Given the description of an element on the screen output the (x, y) to click on. 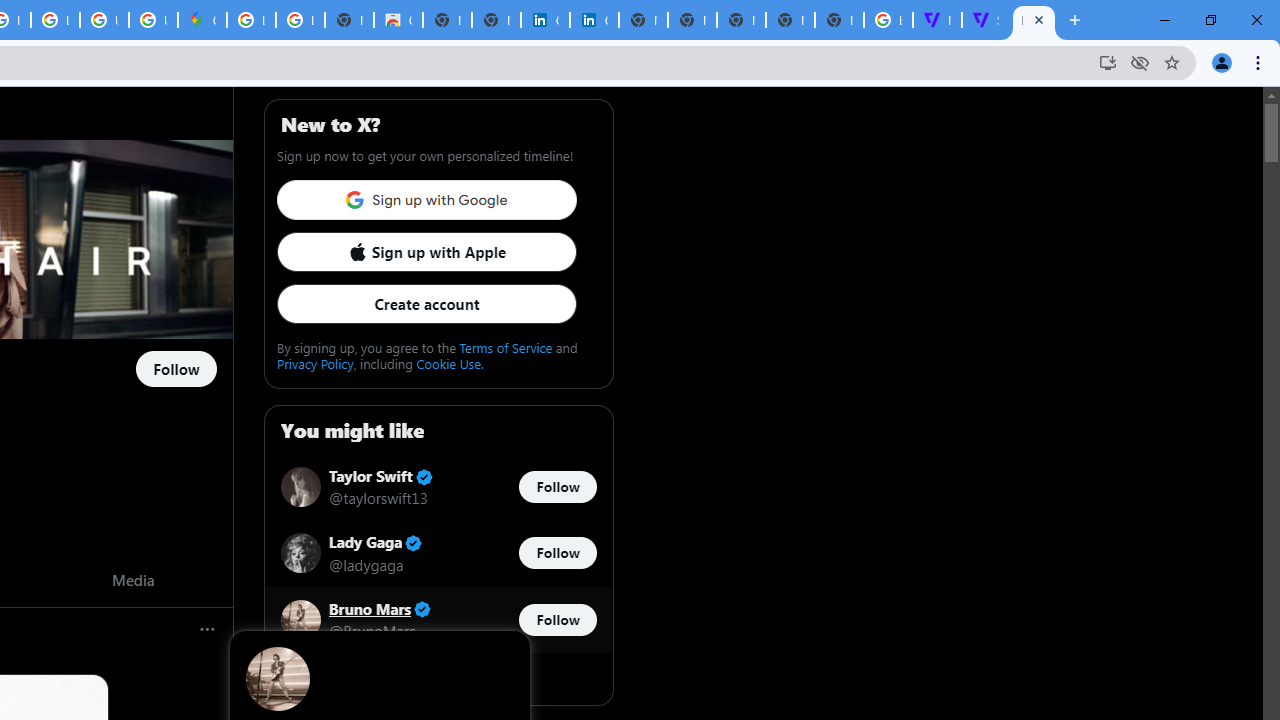
Follow @rihanna (176, 369)
Sign up with Google (426, 200)
Cookie Policy | LinkedIn (545, 20)
Lady Gaga Verified account @ladygaga Follow @ladygaga (438, 552)
Follow @BrunoMars (557, 619)
Taylor Swift Verified account (380, 476)
Lady Gaga Verified account (375, 543)
Follow @ladygaga (557, 553)
Sign up with Apple (426, 251)
Verified account (422, 609)
Google Maps (201, 20)
